Given the description of an element on the screen output the (x, y) to click on. 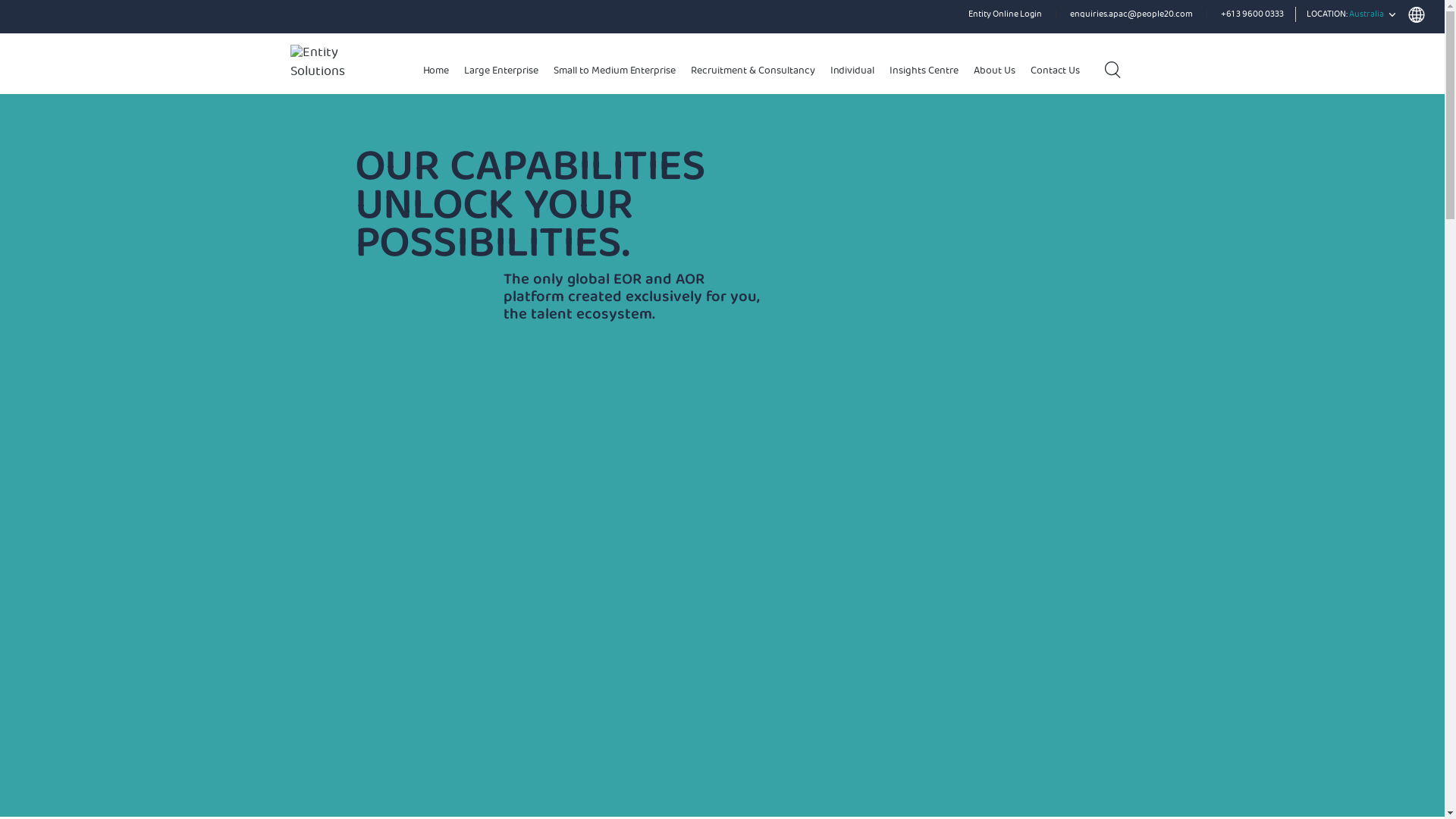
Home Element type: text (436, 71)
LOCATION: Australia Element type: text (1365, 15)
Contact Us Element type: text (1055, 71)
Toogle Mute Element type: text (706, 794)
+61 3 9600 0333 Element type: text (1252, 15)
Individual Element type: text (852, 71)
Insights Centre Element type: text (923, 71)
Entity Solutions Element type: hover (339, 63)
Small to Medium Enterprise Element type: text (614, 71)
Search Element type: text (1111, 69)
About Us Element type: text (994, 71)
Recruitment & Consultancy Element type: text (752, 71)
Entity Online Login Element type: text (1005, 15)
Large Enterprise Element type: text (501, 71)
enquiries.apac@people20.com Element type: text (1131, 15)
